Given the description of an element on the screen output the (x, y) to click on. 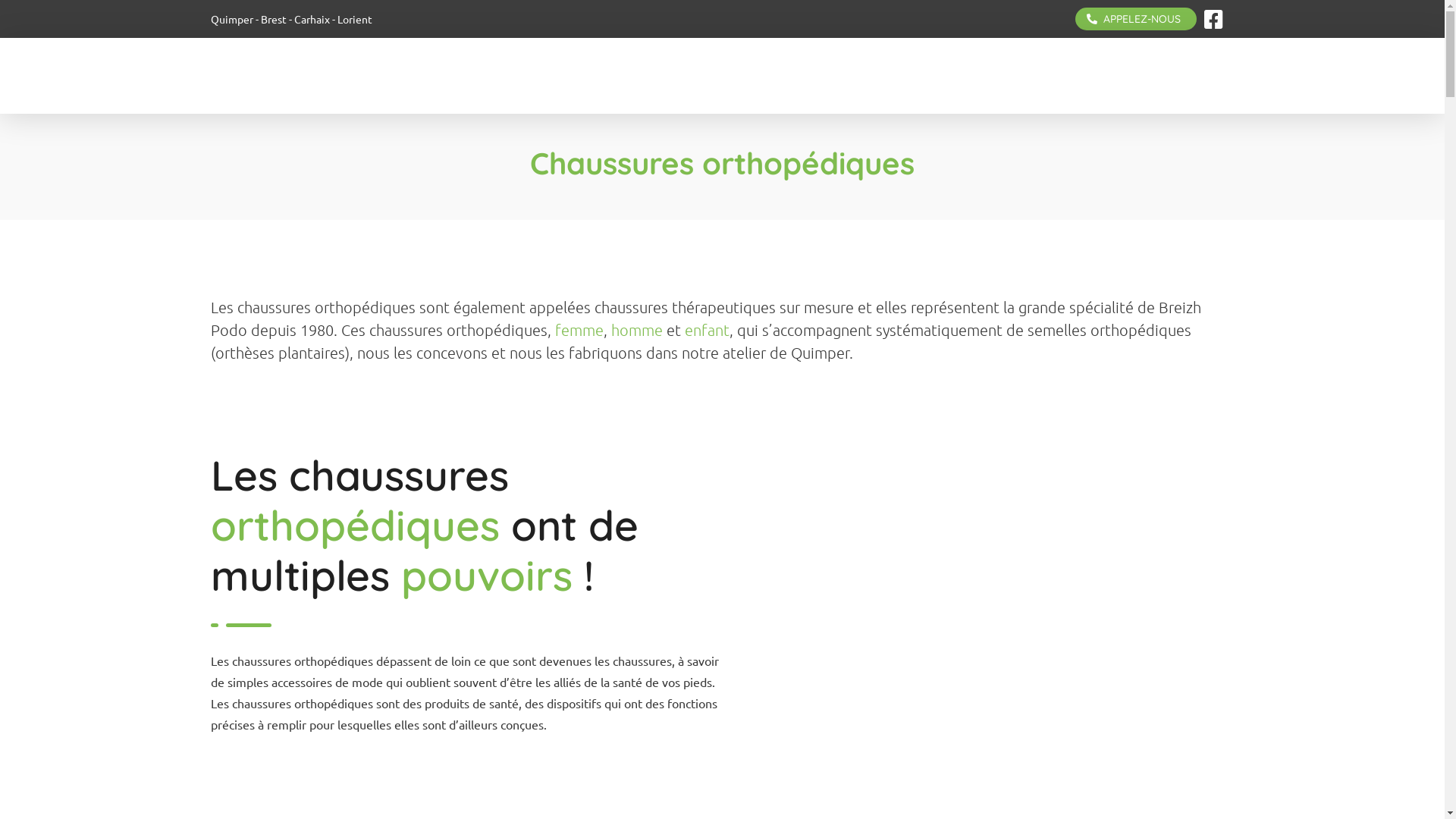
femme Element type: text (579, 329)
Carhaix Element type: text (311, 18)
homme Element type: text (636, 329)
Brest Element type: text (273, 18)
Lorient Element type: text (353, 18)
enfant Element type: text (706, 329)
Quimper Element type: text (231, 18)
